Given the description of an element on the screen output the (x, y) to click on. 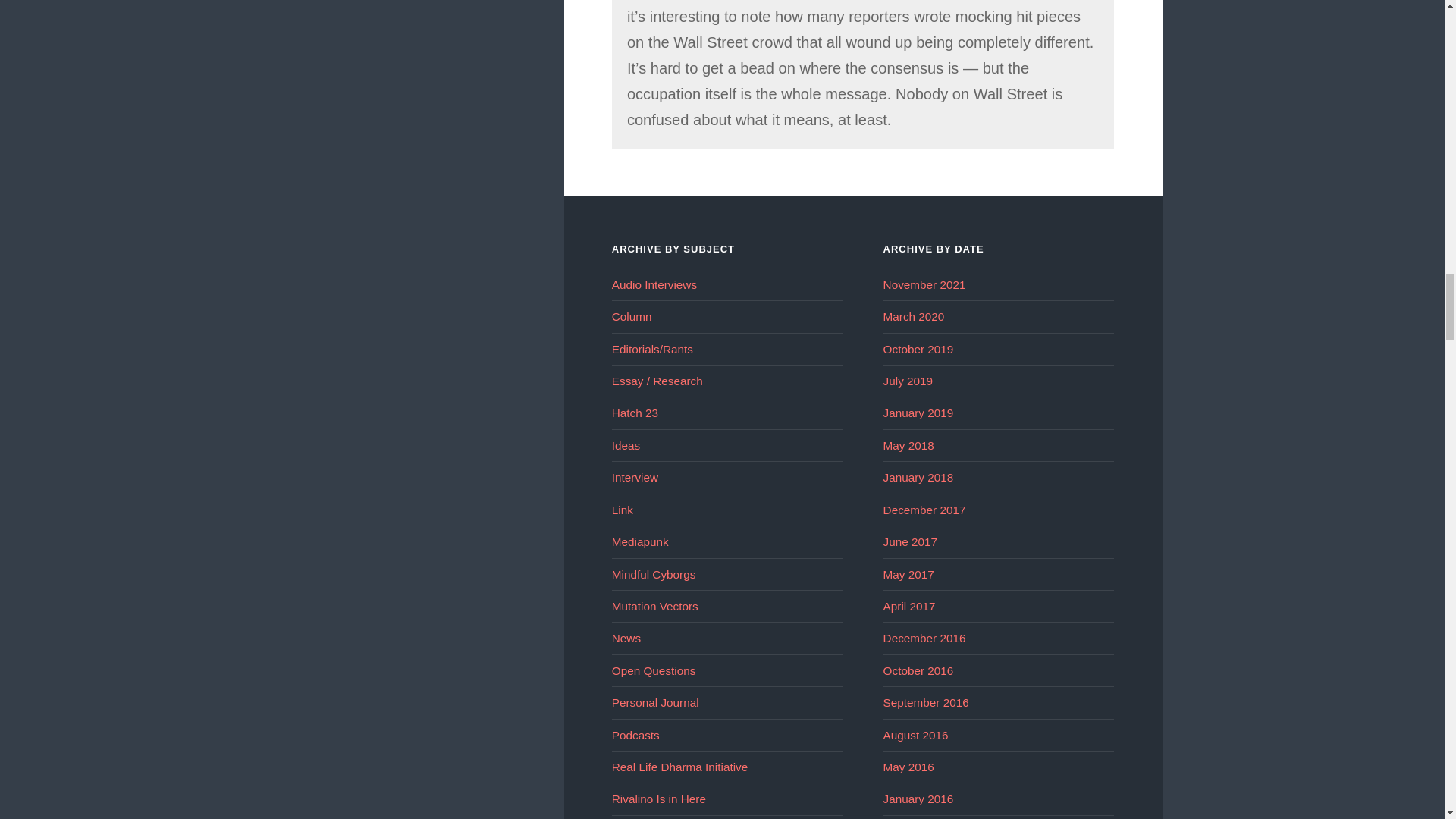
Hatch 23 (634, 412)
Personal Journal (654, 702)
Podcasts (635, 735)
News (625, 637)
Column (631, 316)
Mindful Cyborgs (653, 574)
Rivalino Is in Here (658, 798)
Link (622, 509)
Mutation Vectors (654, 605)
Interview (634, 477)
